Given the description of an element on the screen output the (x, y) to click on. 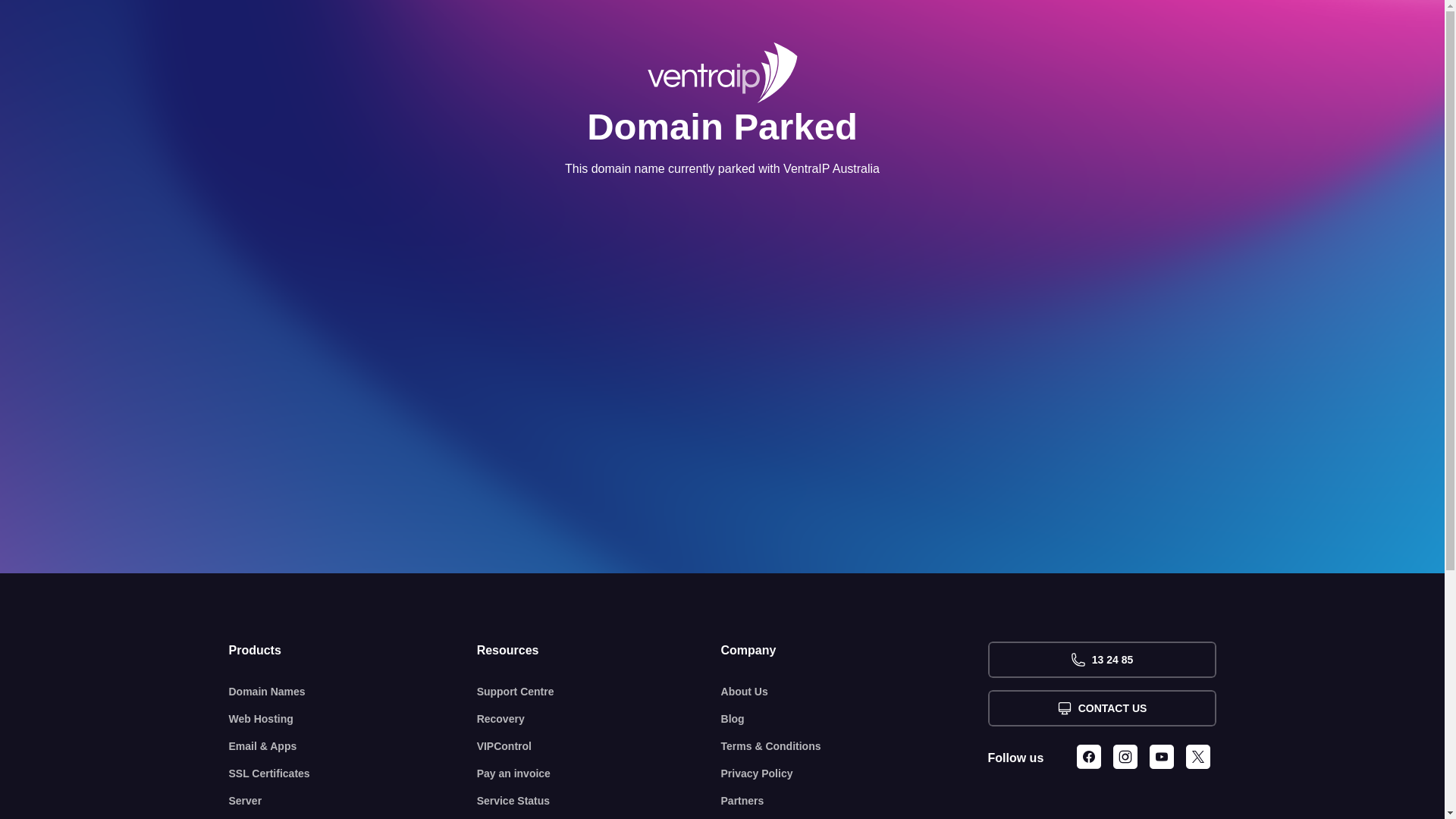
VIPControl Element type: text (598, 745)
SSL Certificates Element type: text (352, 773)
Server Element type: text (352, 800)
Partners Element type: text (854, 800)
Support Centre Element type: text (598, 691)
13 24 85 Element type: text (1101, 659)
Terms & Conditions Element type: text (854, 745)
Privacy Policy Element type: text (854, 773)
Pay an invoice Element type: text (598, 773)
Blog Element type: text (854, 718)
CONTACT US Element type: text (1101, 708)
Service Status Element type: text (598, 800)
About Us Element type: text (854, 691)
Web Hosting Element type: text (352, 718)
Domain Names Element type: text (352, 691)
Email & Apps Element type: text (352, 745)
Recovery Element type: text (598, 718)
